Given the description of an element on the screen output the (x, y) to click on. 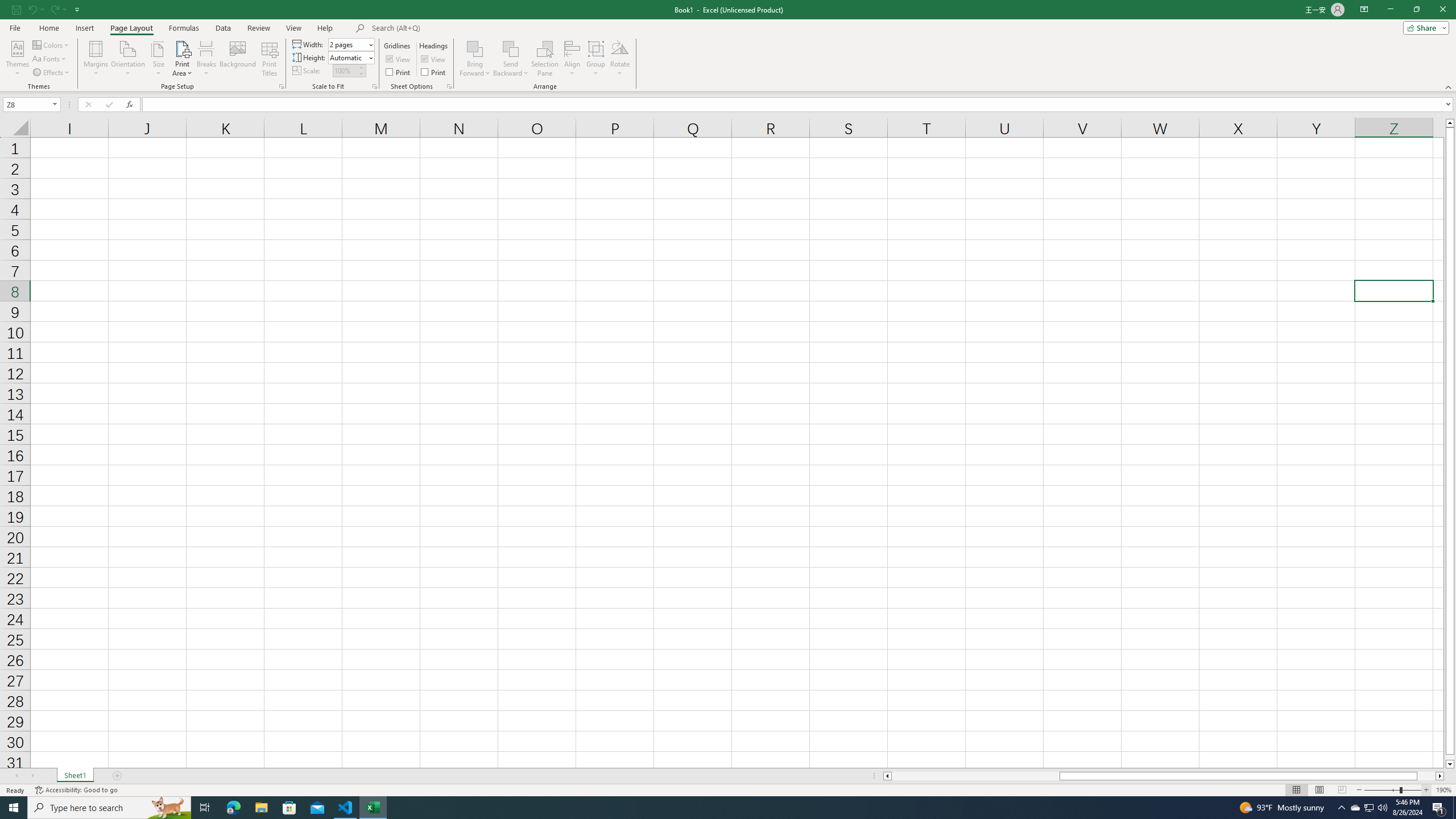
Colors (51, 44)
More Options (510, 68)
Close (1442, 9)
More (360, 67)
Name Box (27, 104)
Effects (51, 72)
View (434, 58)
Less (360, 73)
Align (571, 58)
Collapse the Ribbon (1448, 86)
Undo (31, 9)
Sheet1 (74, 775)
Margins (95, 58)
Normal (1296, 790)
Print (434, 71)
